Given the description of an element on the screen output the (x, y) to click on. 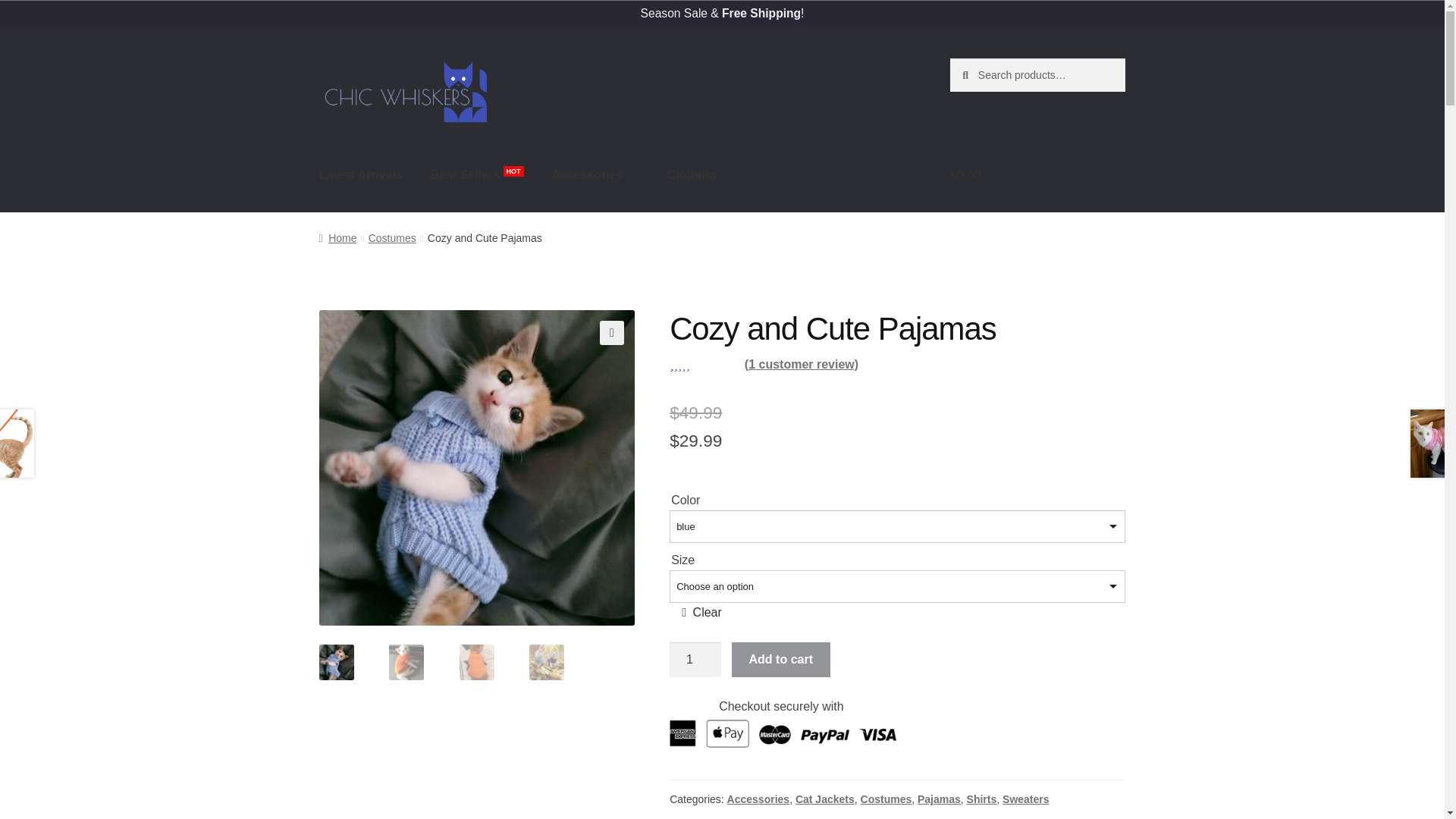
Clothing (700, 174)
Latest Arrivals (360, 174)
Accessories (594, 174)
1 (694, 659)
View your shopping cart (1037, 174)
Best Sellers HOT (477, 174)
